Given the description of an element on the screen output the (x, y) to click on. 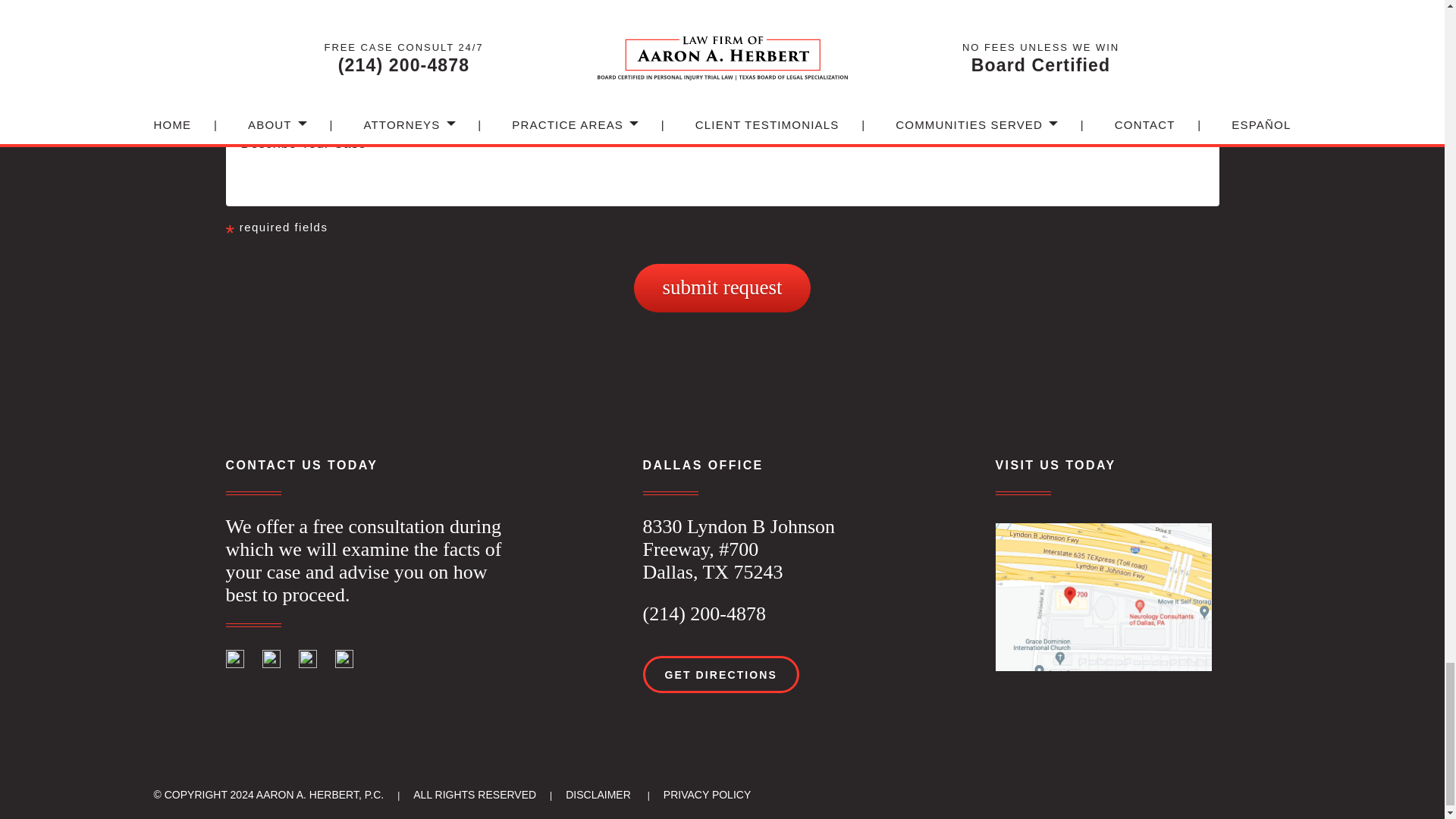
Submit Request (721, 287)
